Given the description of an element on the screen output the (x, y) to click on. 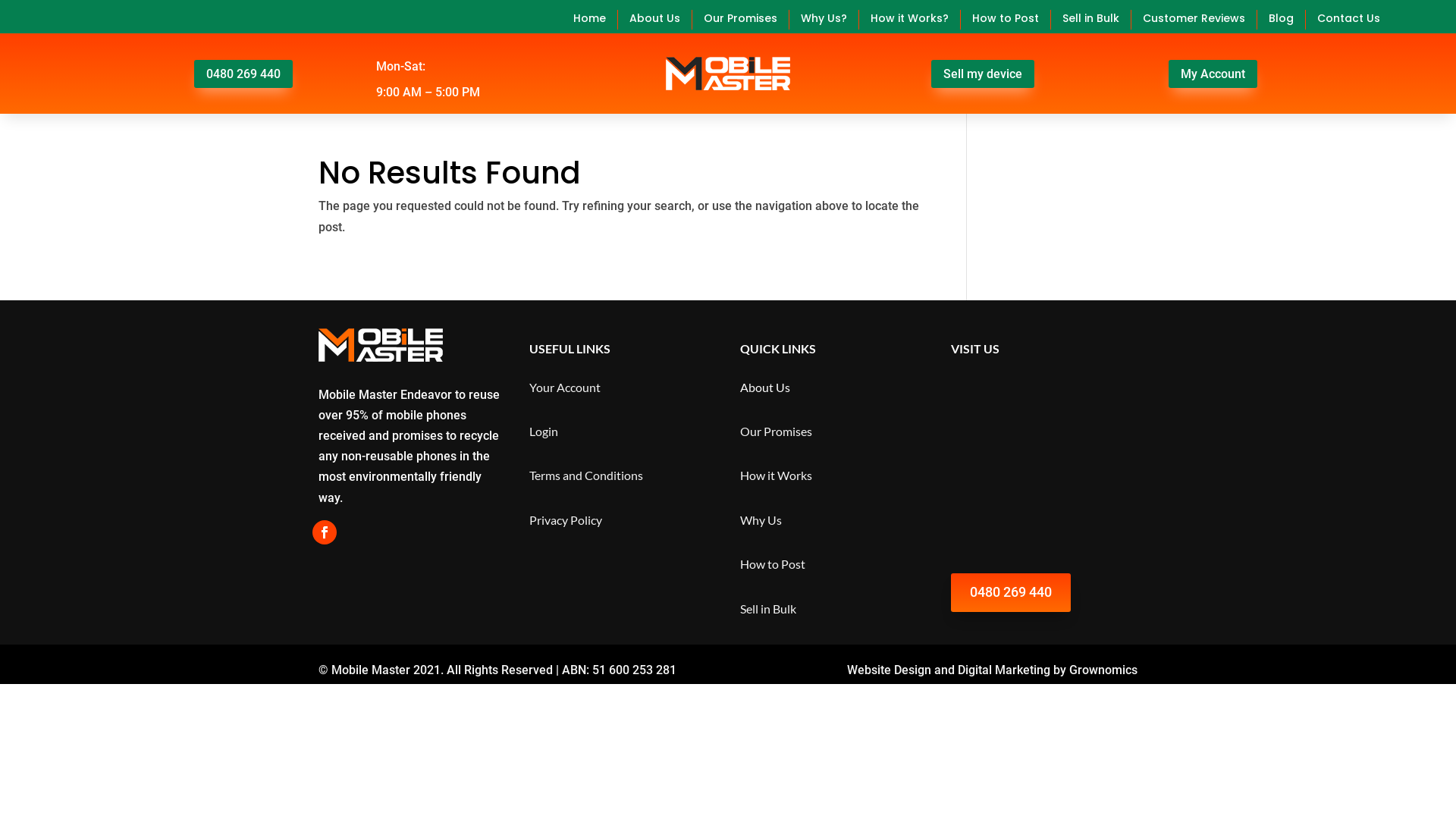
0480 269 440 Element type: text (243, 73)
How it Works Element type: text (776, 474)
Sell in Bulk Element type: text (768, 608)
Grownomics Element type: text (1103, 669)
0480 269 440 Element type: text (1010, 592)
Why Us? Element type: text (823, 19)
logo (1) Element type: hover (727, 73)
About Us Element type: text (765, 386)
Follow on Facebook Element type: hover (324, 532)
How to Post Element type: text (772, 563)
How it Works? Element type: text (909, 19)
Blog Element type: text (1280, 19)
My Account Element type: text (1212, 73)
Sell in Bulk Element type: text (1090, 19)
Digital Marketing Element type: text (1003, 669)
Sell my device Element type: text (982, 73)
Customer Reviews Element type: text (1193, 19)
Login Element type: text (543, 430)
Our Promises Element type: text (776, 430)
About Us Element type: text (654, 19)
Home Element type: text (589, 19)
Mobile Master 2021 Element type: text (384, 669)
How to Post Element type: text (1005, 19)
Your Account Element type: text (564, 386)
Our Promises Element type: text (740, 19)
Website Design Element type: text (889, 669)
Why Us Element type: text (760, 519)
Contact Us Element type: text (1348, 19)
